Given the description of an element on the screen output the (x, y) to click on. 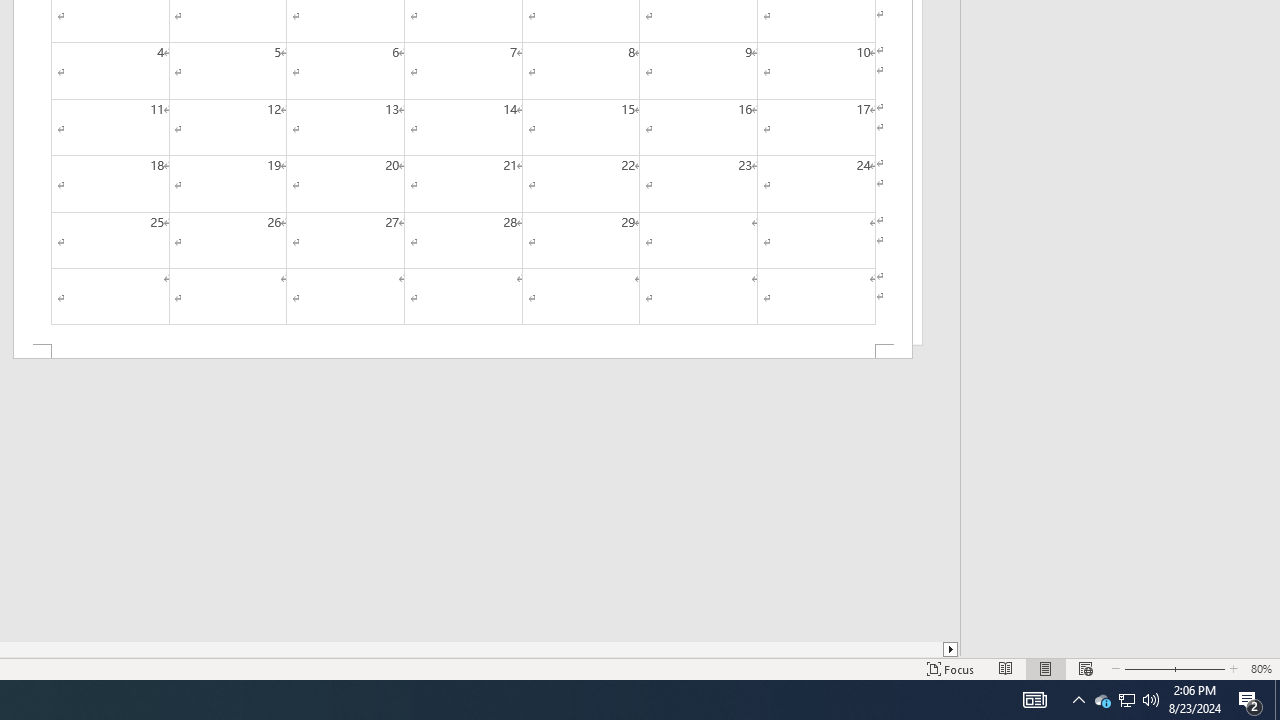
Column right (951, 649)
Footer -Section 2- (462, 351)
